Given the description of an element on the screen output the (x, y) to click on. 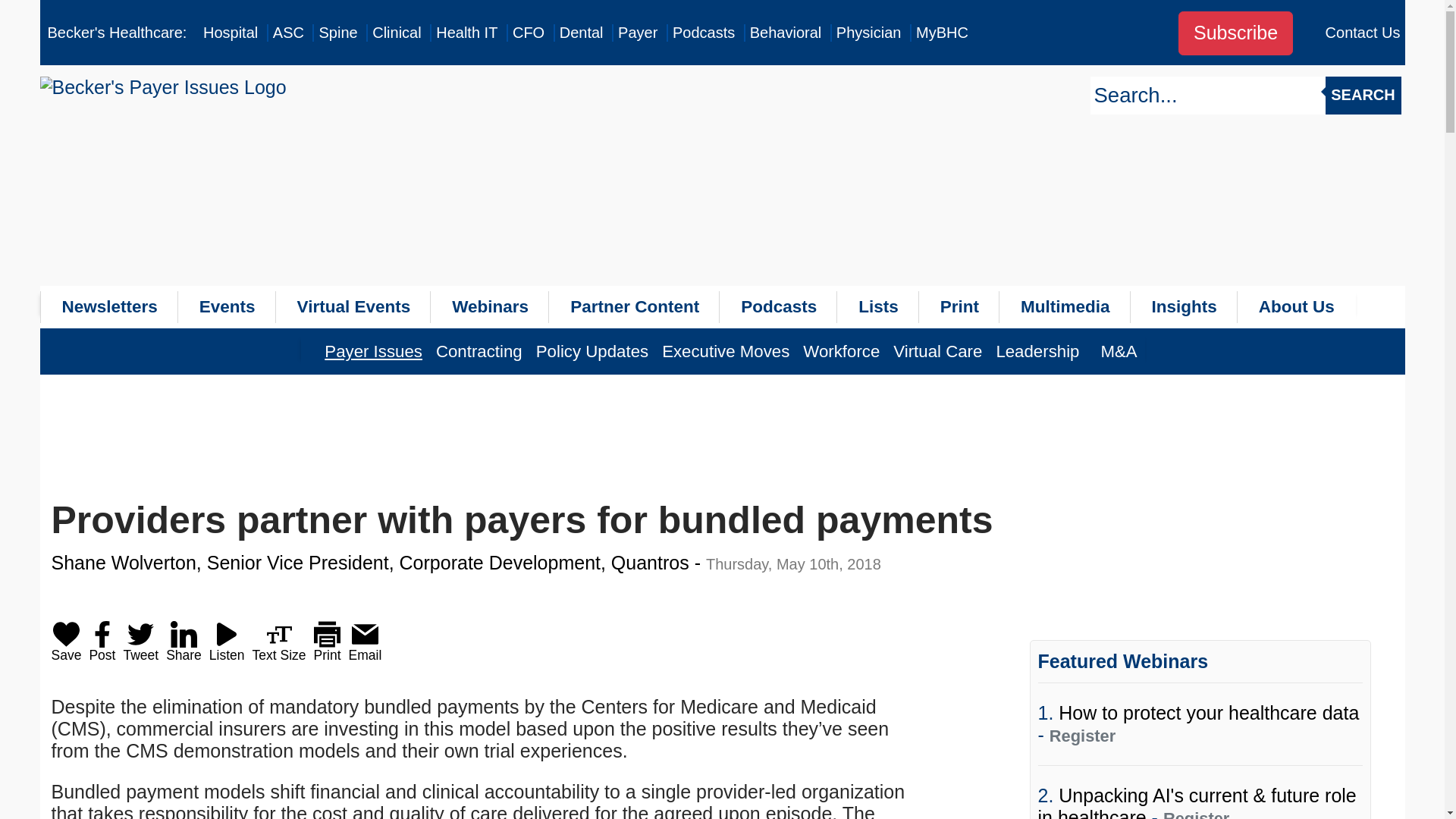
Physician (868, 32)
Becker's Spine Review (337, 32)
Becker's Health IT (466, 32)
MyBHC (941, 32)
Becker's Hospital Review (230, 32)
Spine (337, 32)
Hospital (230, 32)
SEARCH (1362, 95)
Clinical (396, 32)
CFO (528, 32)
Contact Us (1362, 32)
Becker's Behavioral Health (785, 32)
MyBHC (941, 32)
Podcasts (703, 32)
Becker's ASC Review (288, 32)
